Given the description of an element on the screen output the (x, y) to click on. 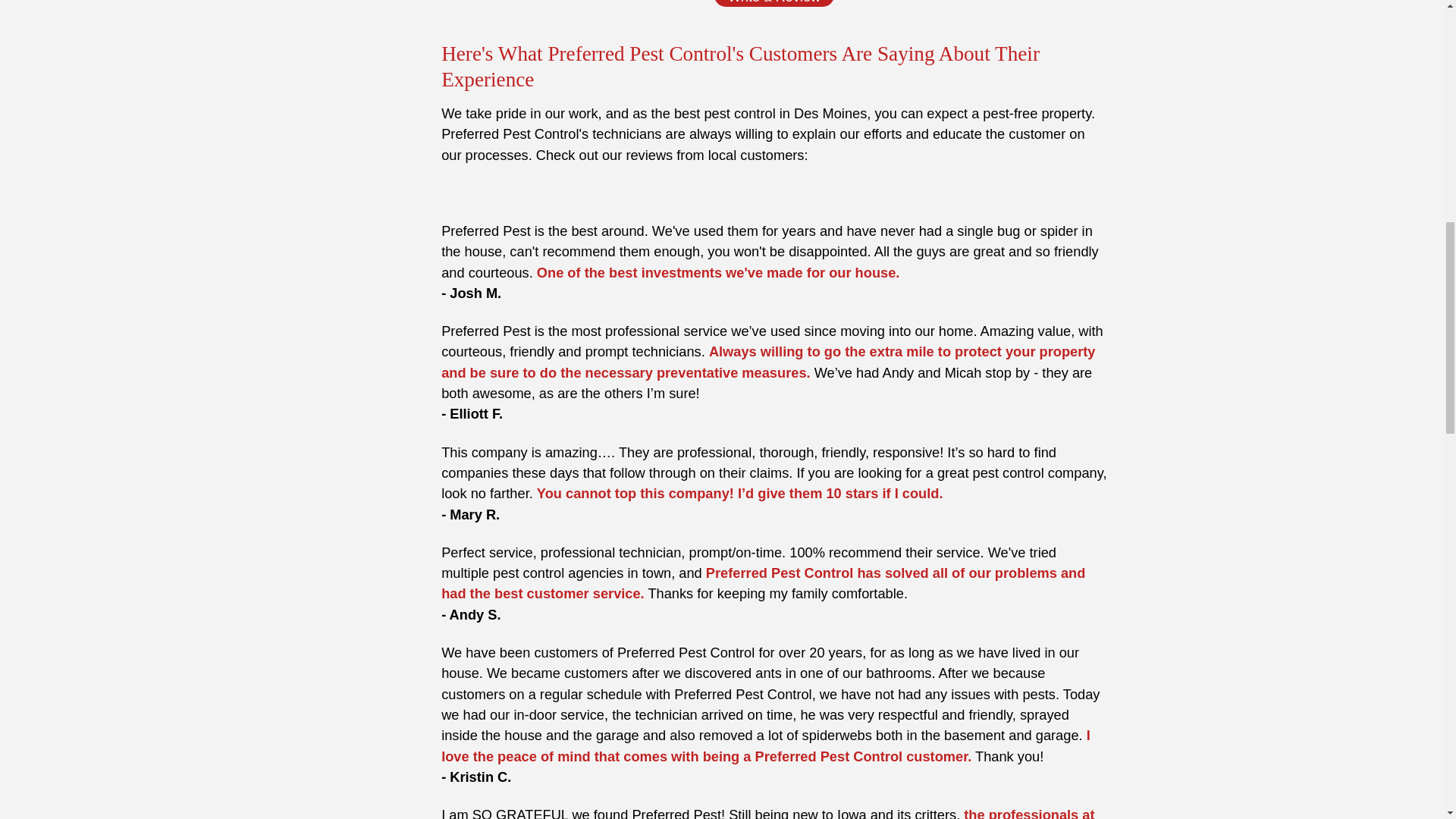
Write a Review (774, 3)
